Given the description of an element on the screen output the (x, y) to click on. 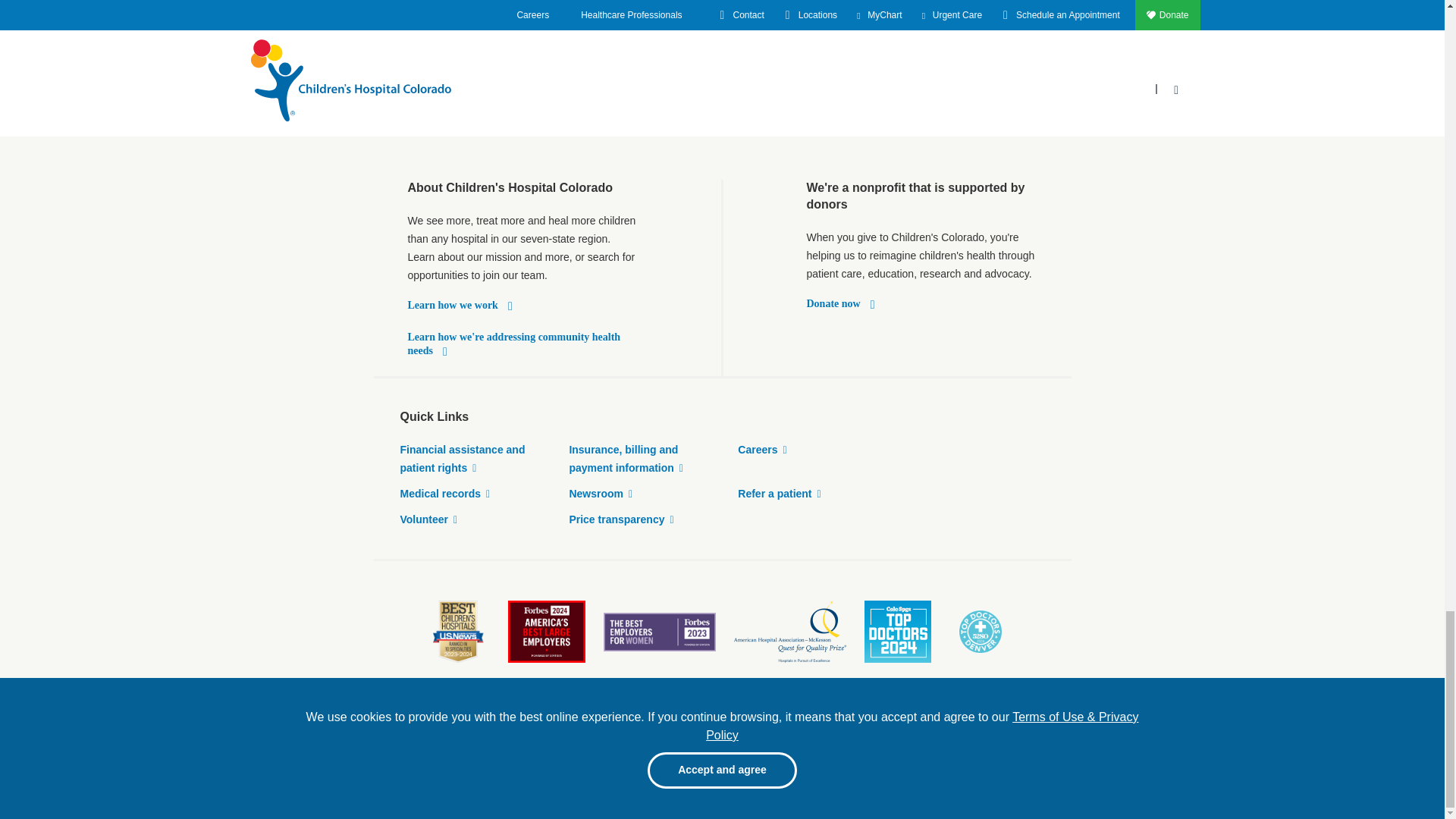
Pinterest (961, 744)
Youtube (993, 744)
COS-TOP-DOCTORS.png (897, 631)
footer-2009-american-hosp-Q-for-Q.png (789, 631)
Forbes-Best-Employers-Women.png (660, 631)
LinkedIn (1025, 744)
Instagram (1056, 744)
Facebook (929, 744)
